Given the description of an element on the screen output the (x, y) to click on. 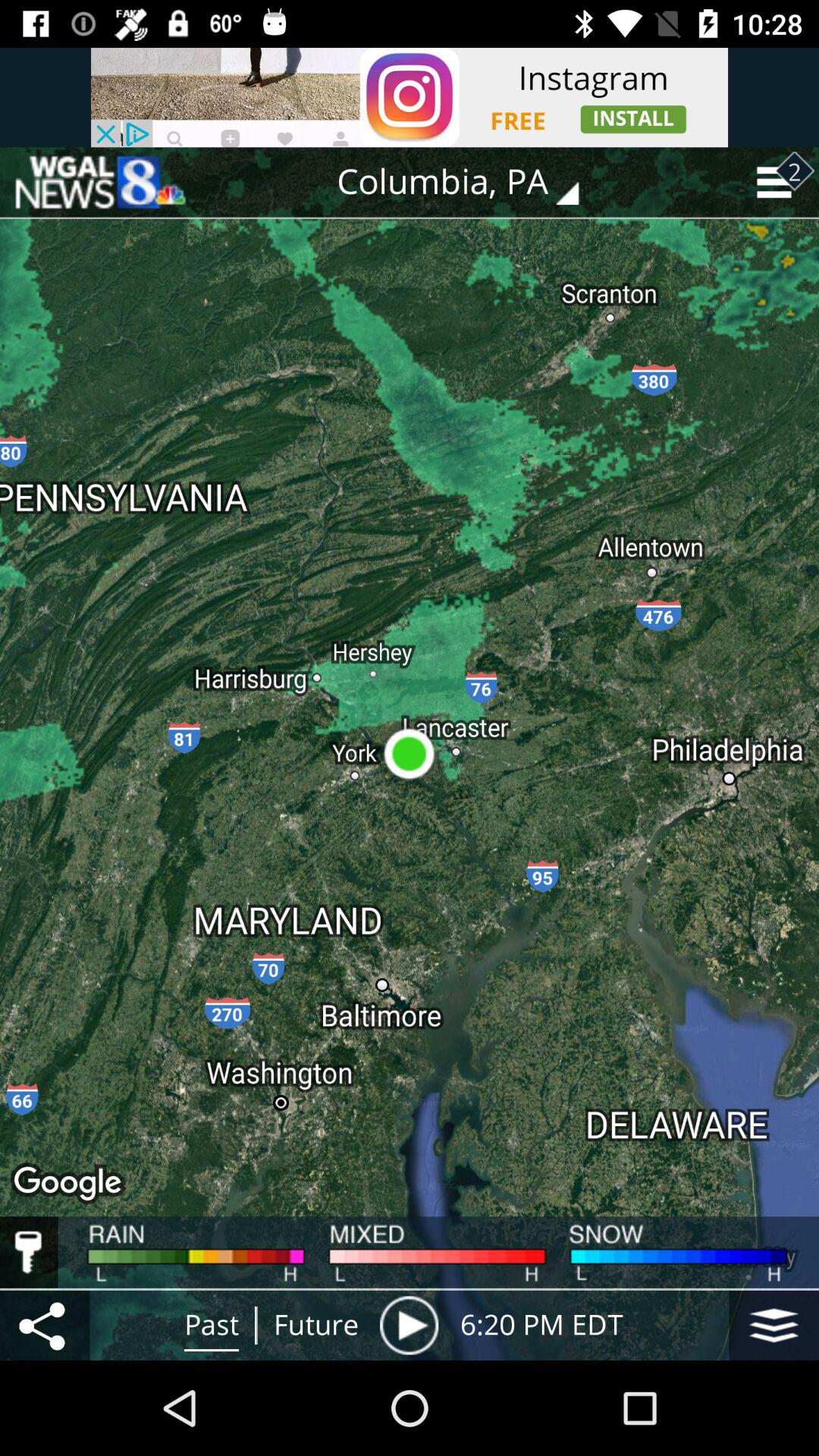
launch icon next to 6 20 pm (774, 1325)
